Given the description of an element on the screen output the (x, y) to click on. 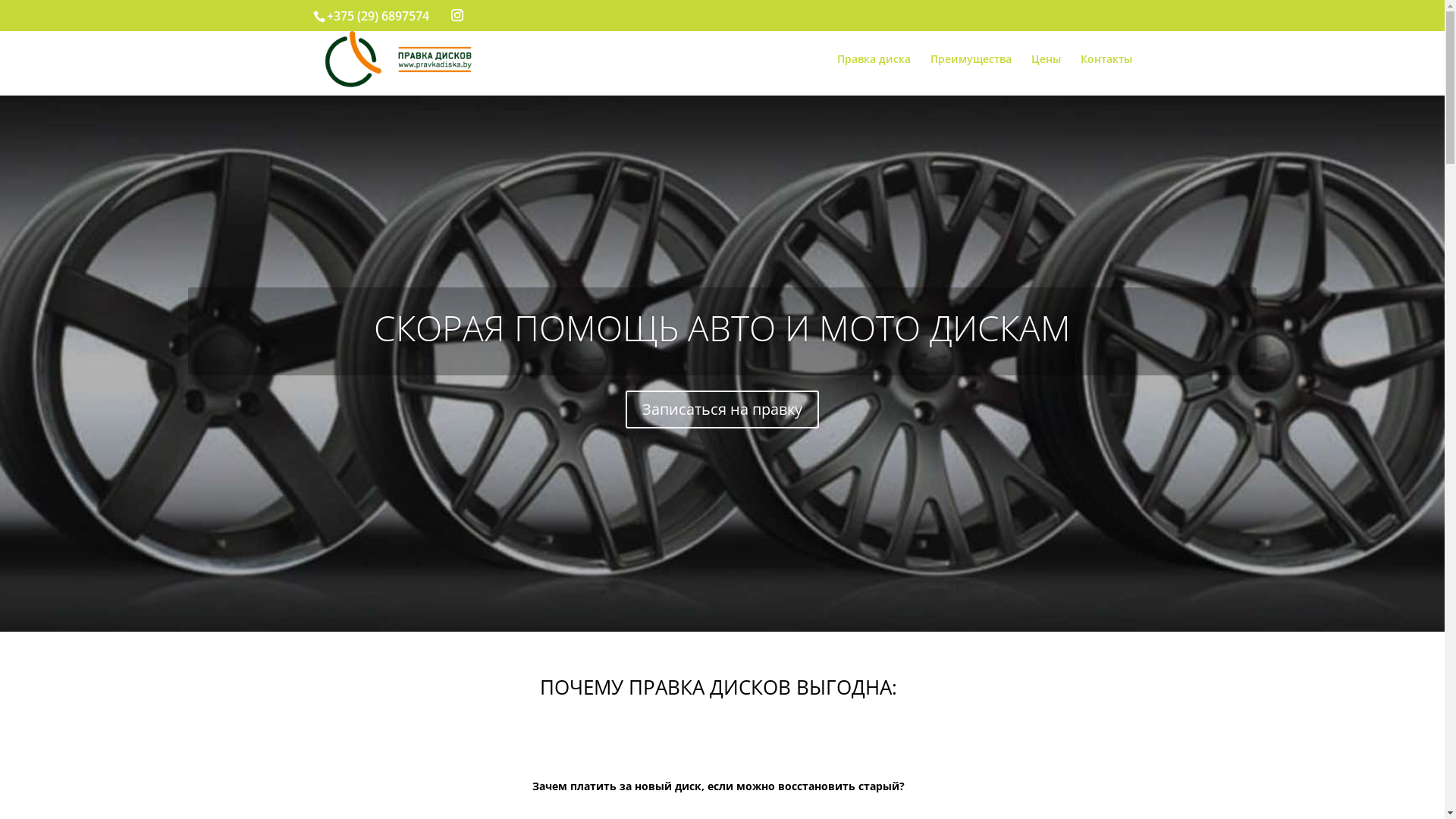
+375 (29) 6897574 Element type: text (377, 15)
